Given the description of an element on the screen output the (x, y) to click on. 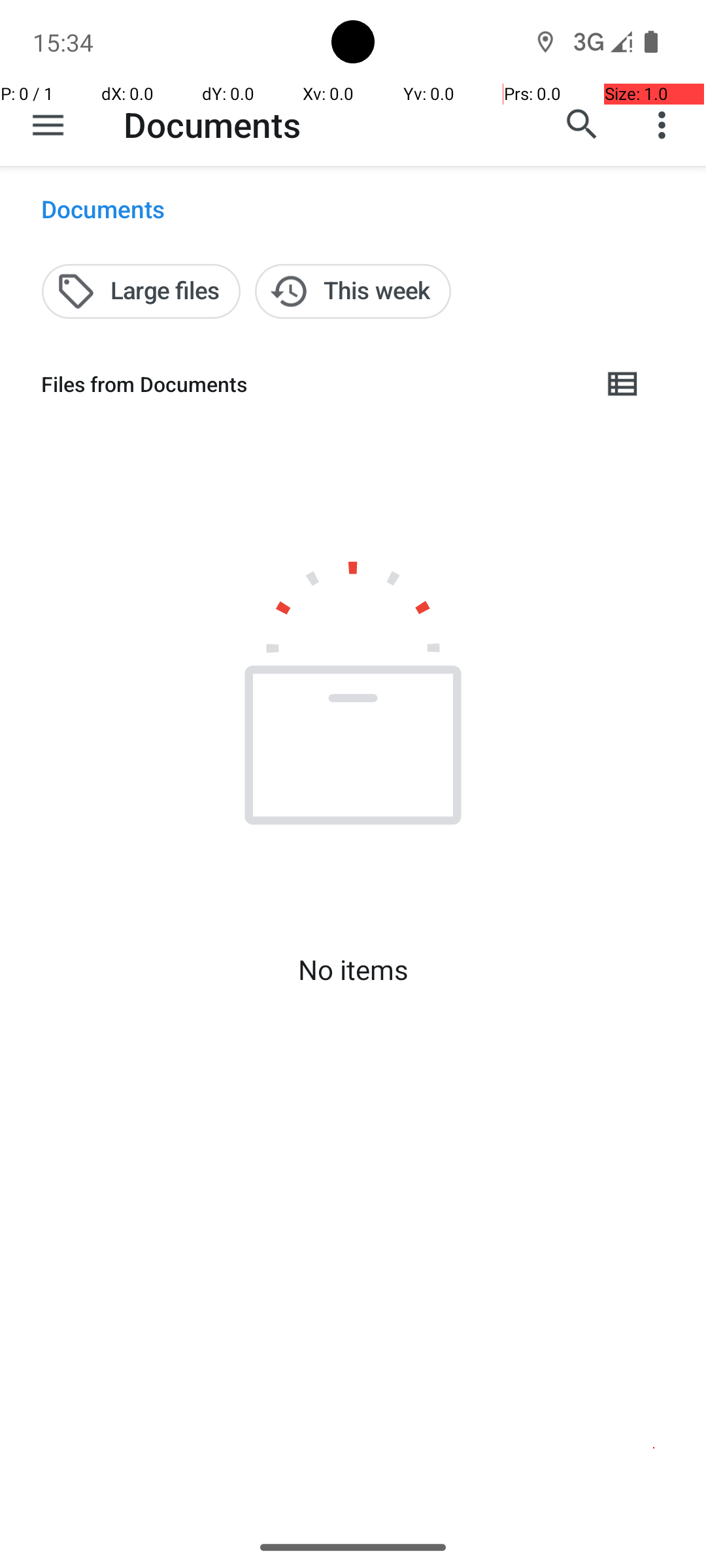
Files from Documents Element type: android.widget.TextView (311, 383)
